Given the description of an element on the screen output the (x, y) to click on. 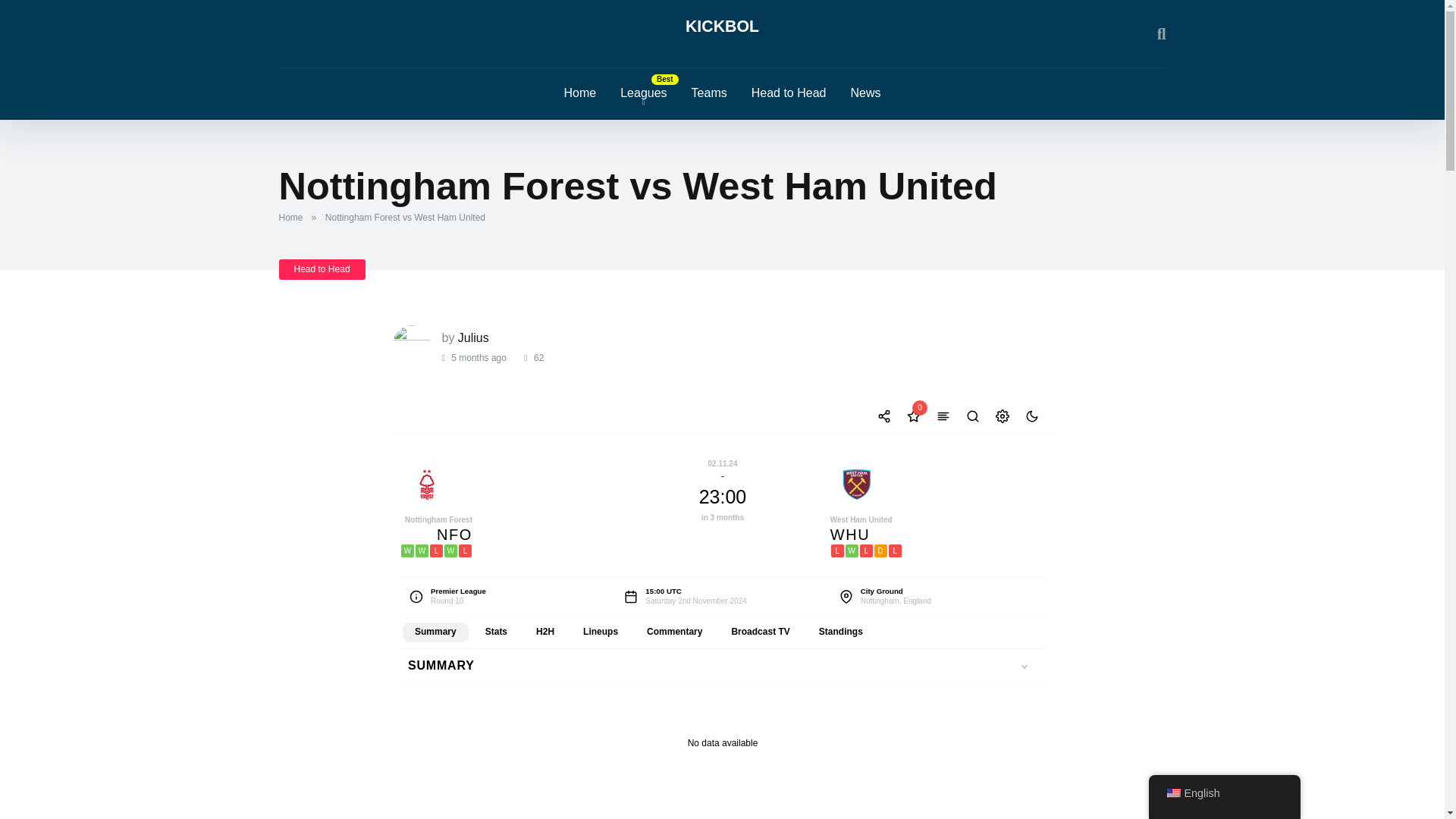
Teams (709, 93)
Leagues (643, 93)
Head to Head (322, 269)
News (865, 93)
Head to Head (788, 93)
Kickbol (721, 26)
Posts by Julius (473, 337)
Home (579, 93)
KICKBOL (721, 26)
Home (293, 217)
Julius (473, 337)
